Given the description of an element on the screen output the (x, y) to click on. 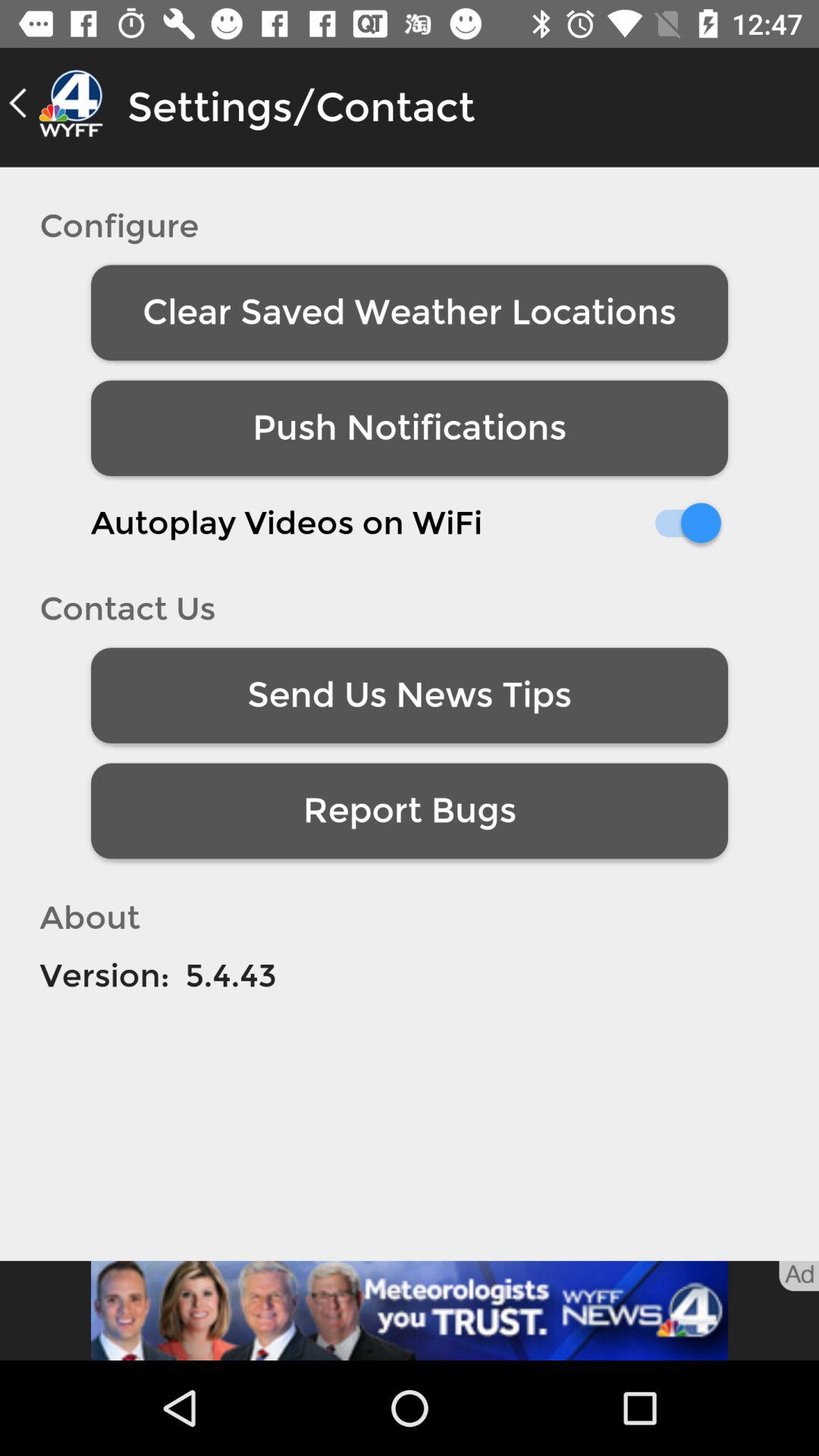
advertisement (409, 1310)
